Given the description of an element on the screen output the (x, y) to click on. 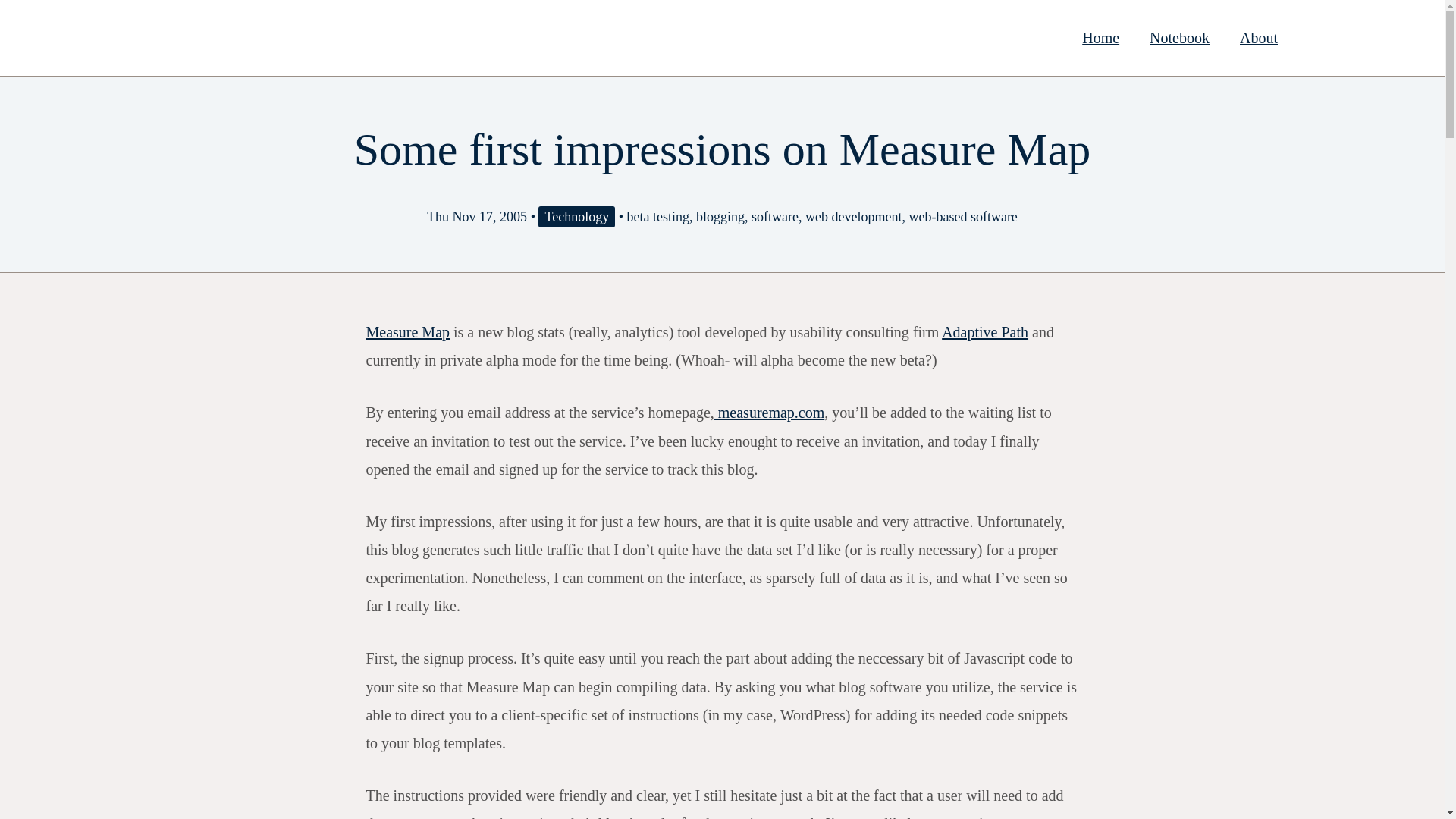
measuremap.com (769, 412)
About Jason Clarke (1258, 37)
Technology (576, 216)
web development (853, 216)
beta testing (657, 216)
blogging (719, 216)
About (1258, 37)
Notebook (1179, 37)
software (774, 216)
Adaptive Path (984, 331)
Home (1100, 37)
Measure Map (407, 331)
web-based software (962, 216)
